Given the description of an element on the screen output the (x, y) to click on. 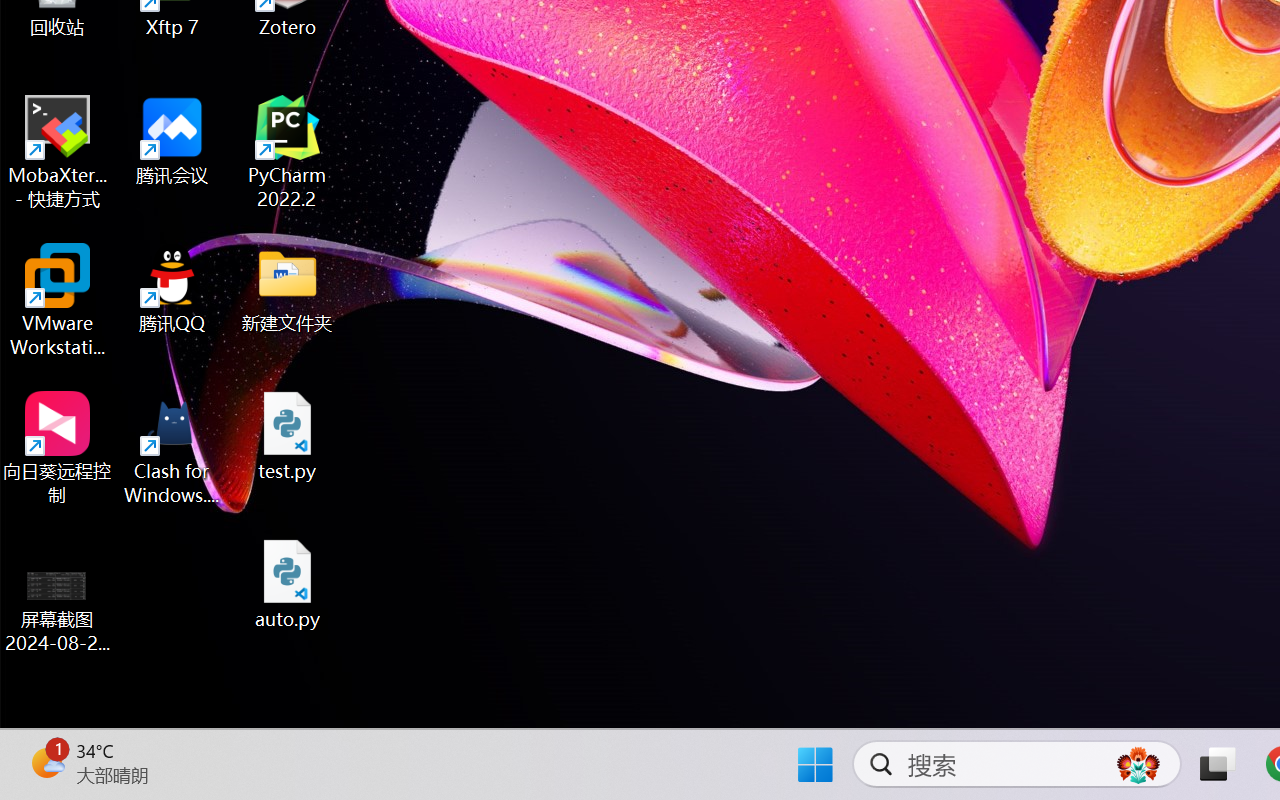
auto.py (287, 584)
VMware Workstation Pro (57, 300)
PyCharm 2022.2 (287, 152)
